Given the description of an element on the screen output the (x, y) to click on. 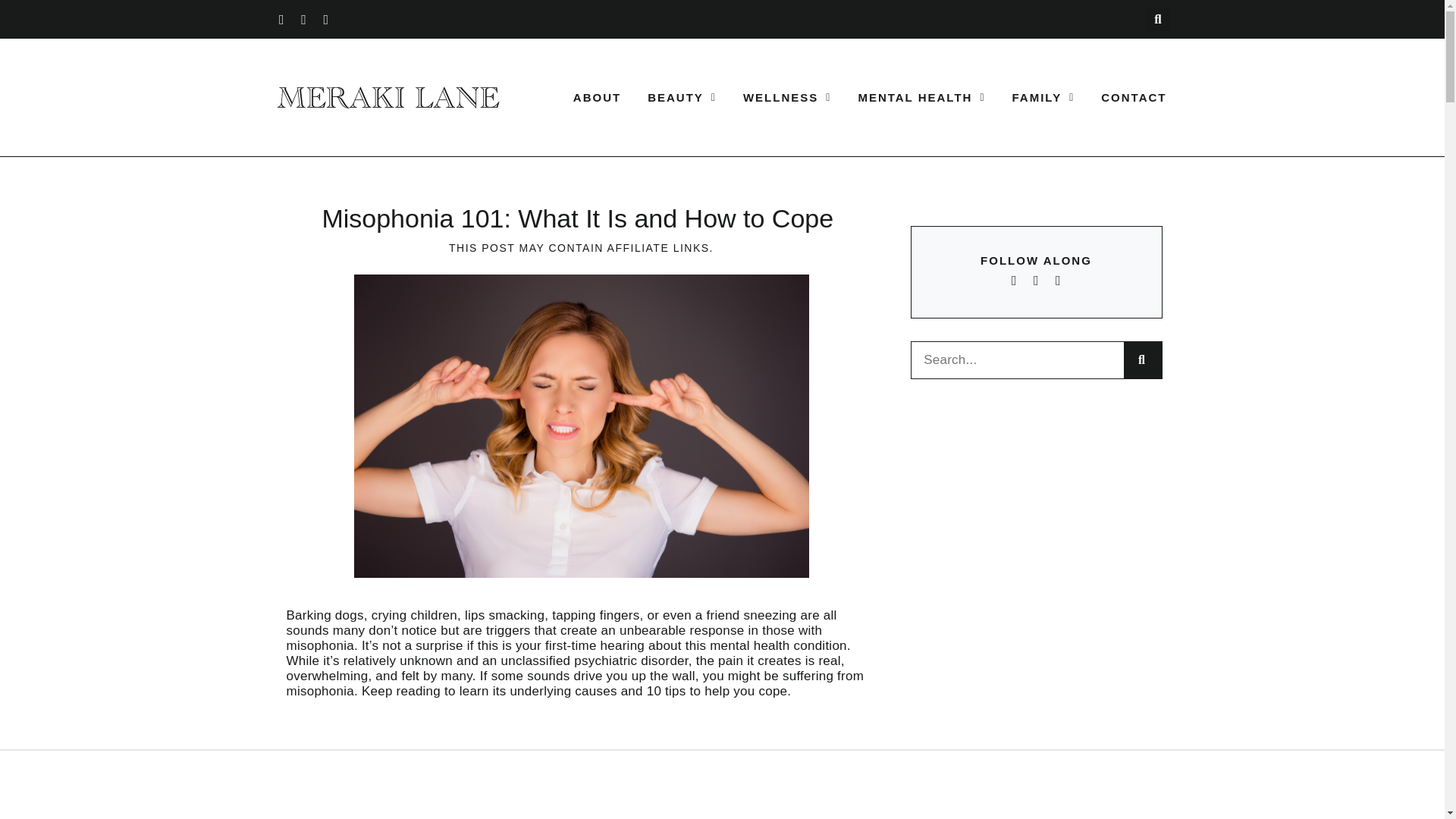
WELLNESS (786, 97)
BEAUTY (681, 97)
ABOUT (597, 97)
